Given the description of an element on the screen output the (x, y) to click on. 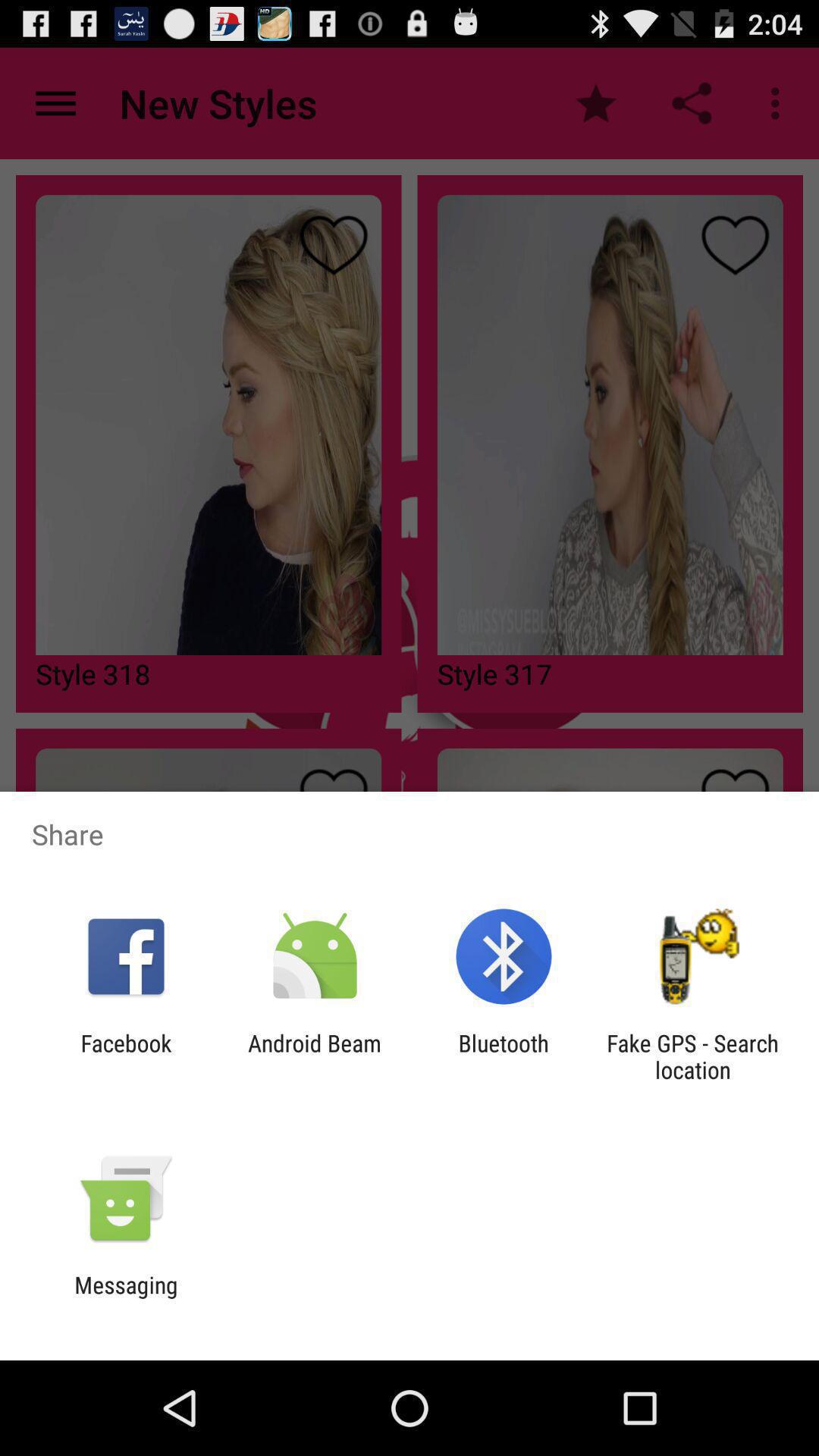
tap app to the right of the bluetooth item (692, 1056)
